Given the description of an element on the screen output the (x, y) to click on. 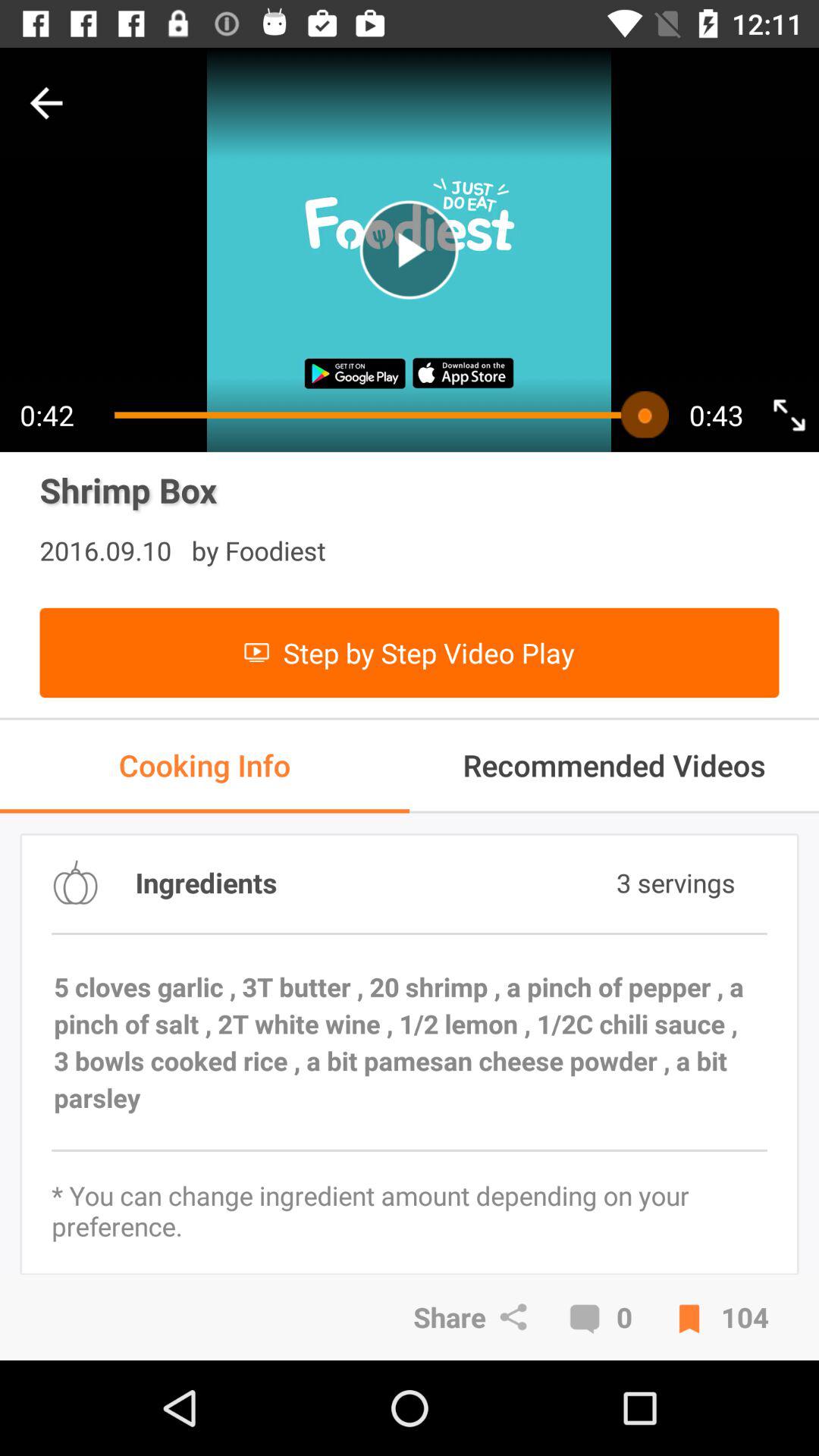
zoom button (789, 414)
